Given the description of an element on the screen output the (x, y) to click on. 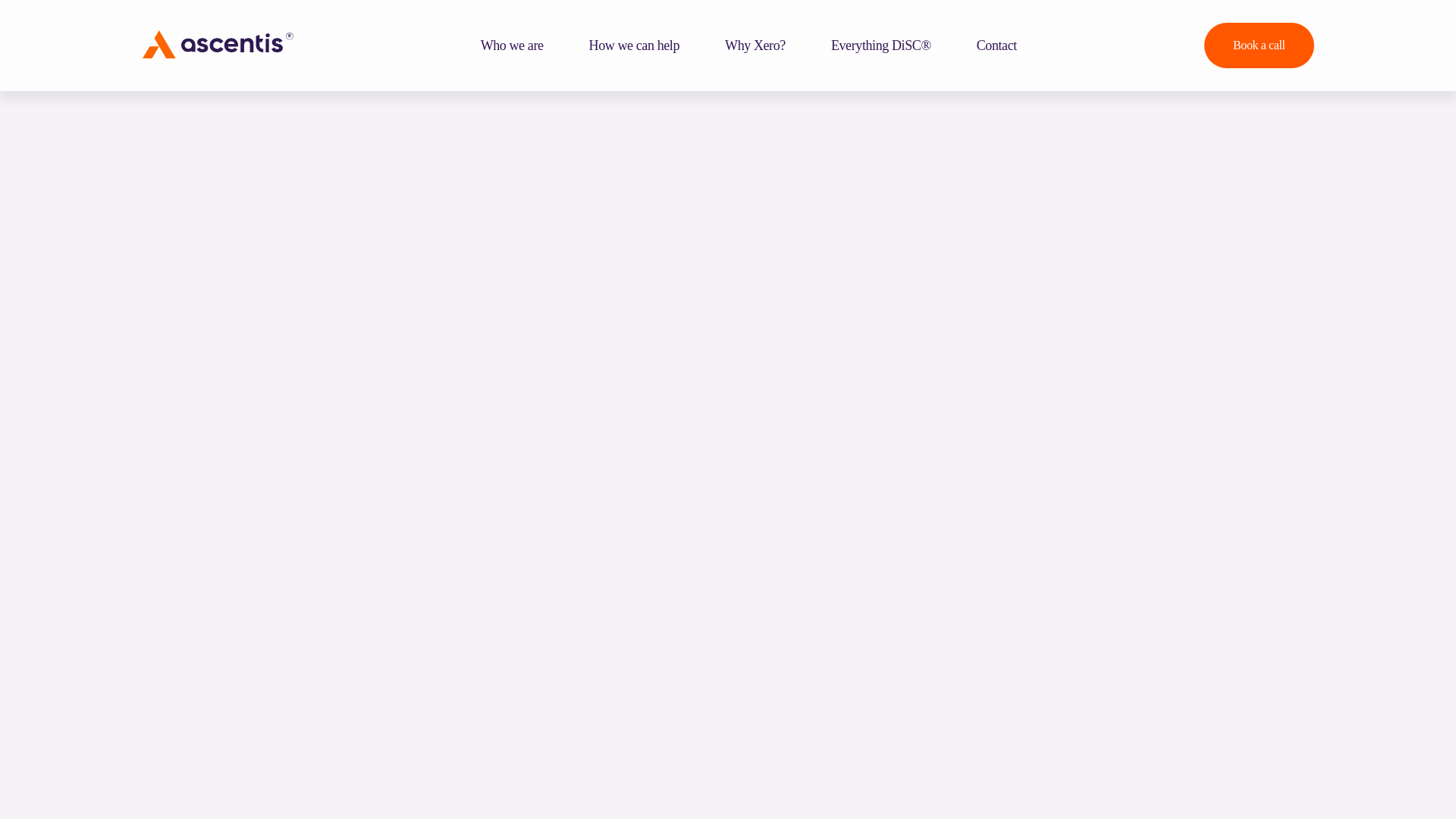
Speak with us (1258, 44)
Get in touch (996, 45)
Our services (633, 45)
Book a call (1258, 44)
Ascentis cloud accountants (512, 45)
Contact (996, 45)
Why Xero? (754, 45)
Why Xero? (754, 45)
How we can help (633, 45)
Who we are (512, 45)
